Given the description of an element on the screen output the (x, y) to click on. 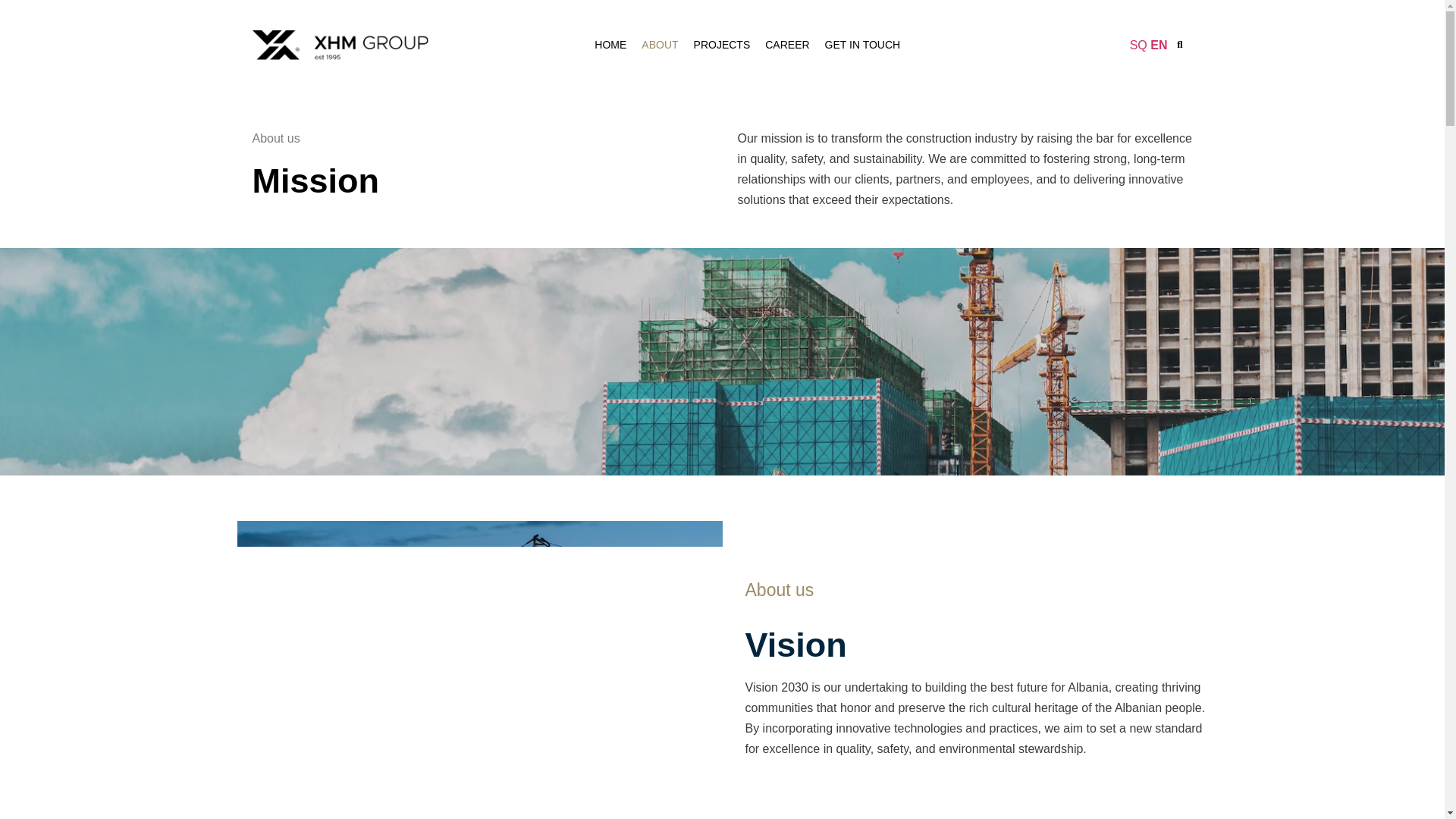
CAREER (786, 44)
EN (1158, 44)
HOME (609, 44)
English (1158, 44)
ABOUT (659, 44)
PROJECTS (721, 44)
SQ (1138, 44)
GET IN TOUCH (862, 44)
Shqip (1138, 44)
